Given the description of an element on the screen output the (x, y) to click on. 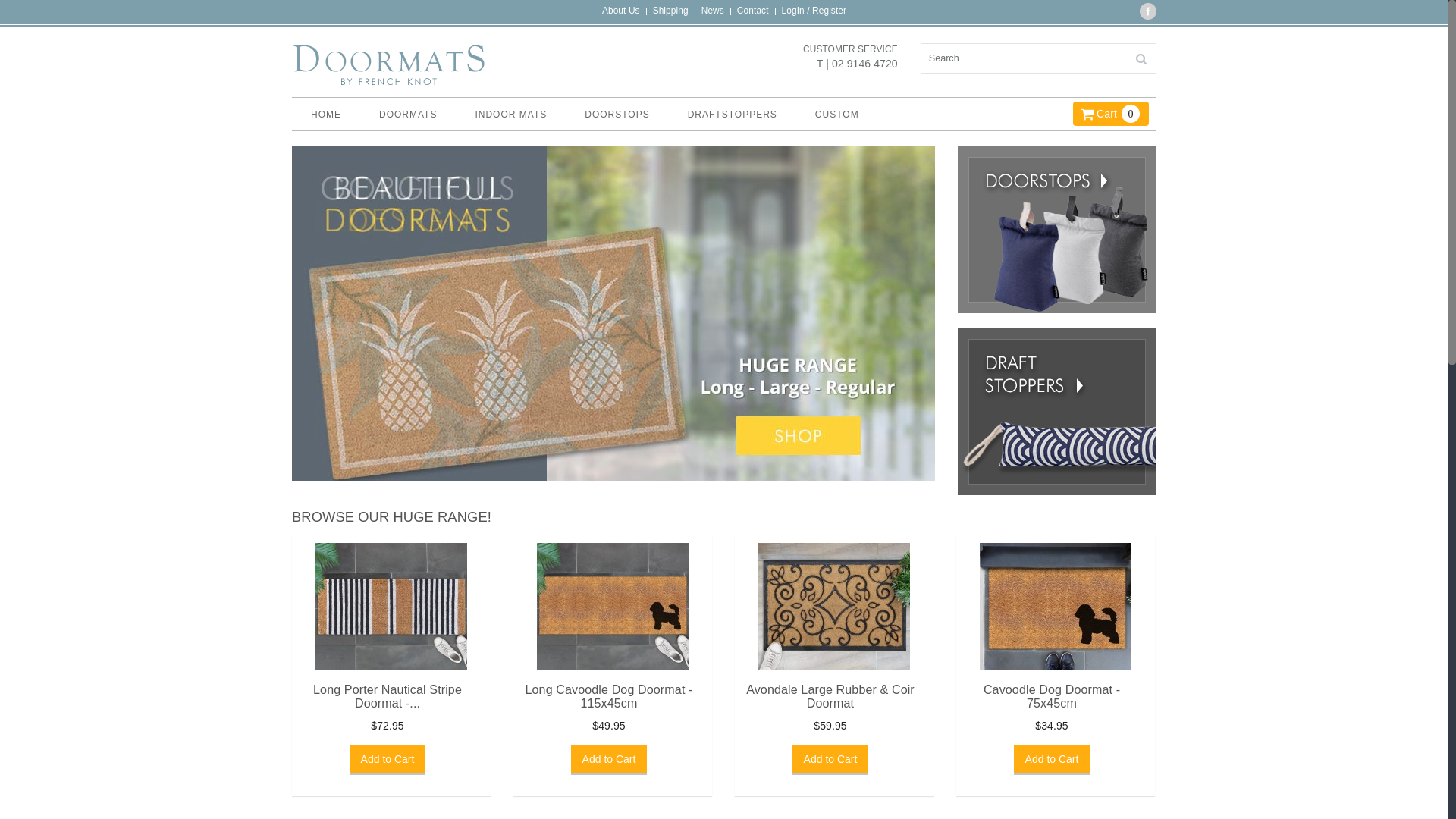
Add to Cart Element type: text (830, 759)
INDOOR MATS Element type: text (510, 114)
Shipping Element type: text (670, 10)
CUSTOM Element type: text (837, 114)
Add to Cart Element type: text (1051, 759)
About Us Element type: text (621, 10)
Long Porter Nautical Stripe Doormat -... Element type: text (387, 695)
Cart
0 Element type: text (1110, 110)
HOME Element type: text (325, 114)
News Element type: text (712, 10)
DOORSTOPS Element type: text (616, 114)
Avondale Large Rubber & Coir Doormat Element type: text (830, 695)
DRAFTSTOPPERS Element type: text (732, 114)
Cavoodle Dog Doormat - 75x45cm Element type: text (1051, 695)
Contact Element type: text (752, 10)
Add to Cart Element type: text (609, 759)
DOORMATS Element type: text (407, 114)
Add to Cart Element type: text (387, 759)
LogIn / Register Element type: text (814, 10)
Long Cavoodle Dog Doormat - 115x45cm Element type: text (608, 695)
